Given the description of an element on the screen output the (x, y) to click on. 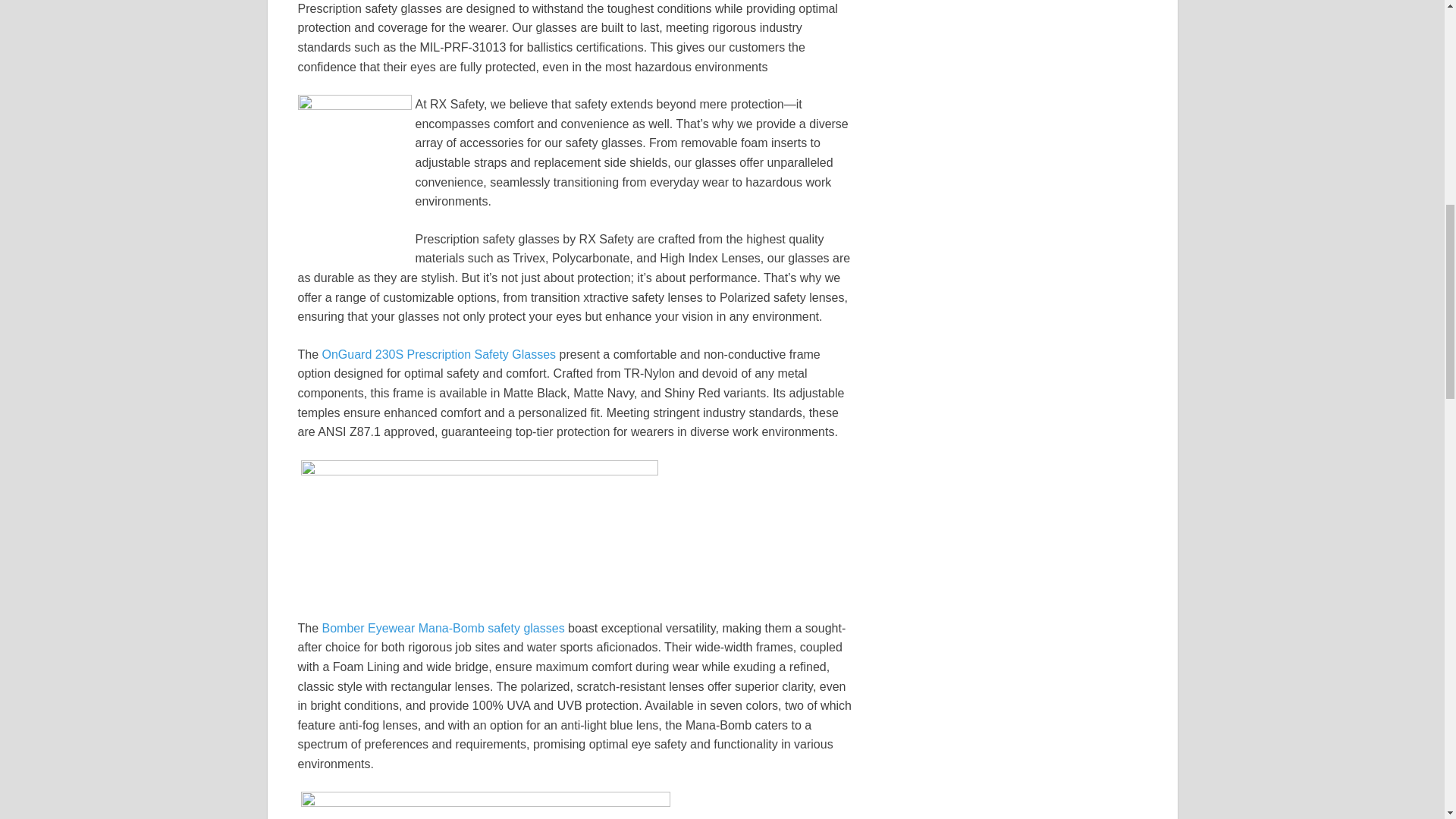
OnGuard 230S Prescription Safety Glasses (438, 354)
Bomber Eyewear Mana-Bomb safety glasses (442, 627)
